Given the description of an element on the screen output the (x, y) to click on. 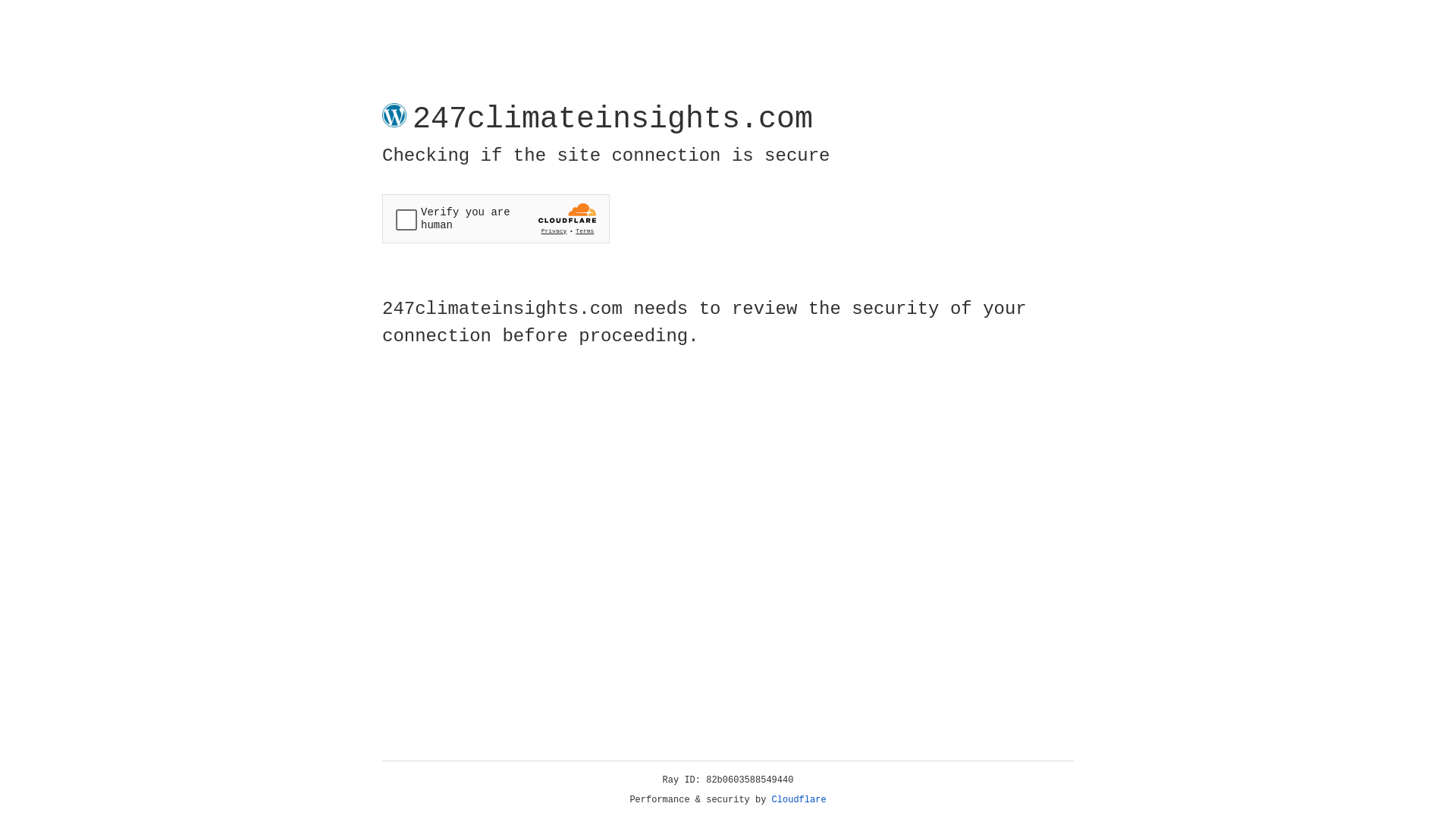
Cloudflare Element type: text (798, 799)
Widget containing a Cloudflare security challenge Element type: hover (495, 218)
